Given the description of an element on the screen output the (x, y) to click on. 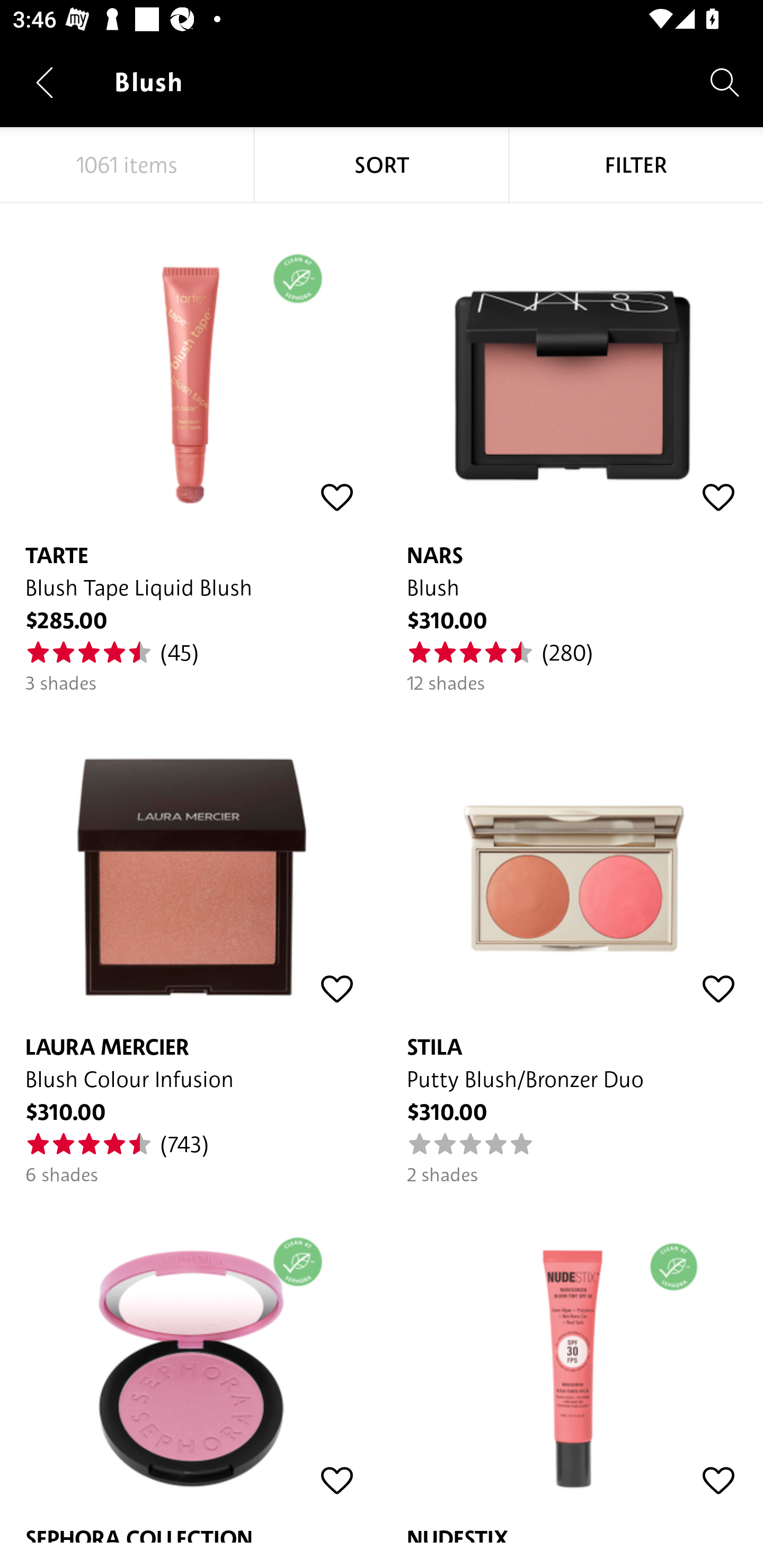
Navigate up (44, 82)
Search (724, 81)
SORT (381, 165)
FILTER (636, 165)
NARS Blush $310.00 (280) 12 shades (571, 448)
STILA Putty Blush/Bronzer Duo $310.00 2 shades (571, 940)
SEPHORA COLLECTION Colorful Blush (190, 1364)
NUDESTIX Nudescreen Blush Tint SPF30 (571, 1364)
